Given the description of an element on the screen output the (x, y) to click on. 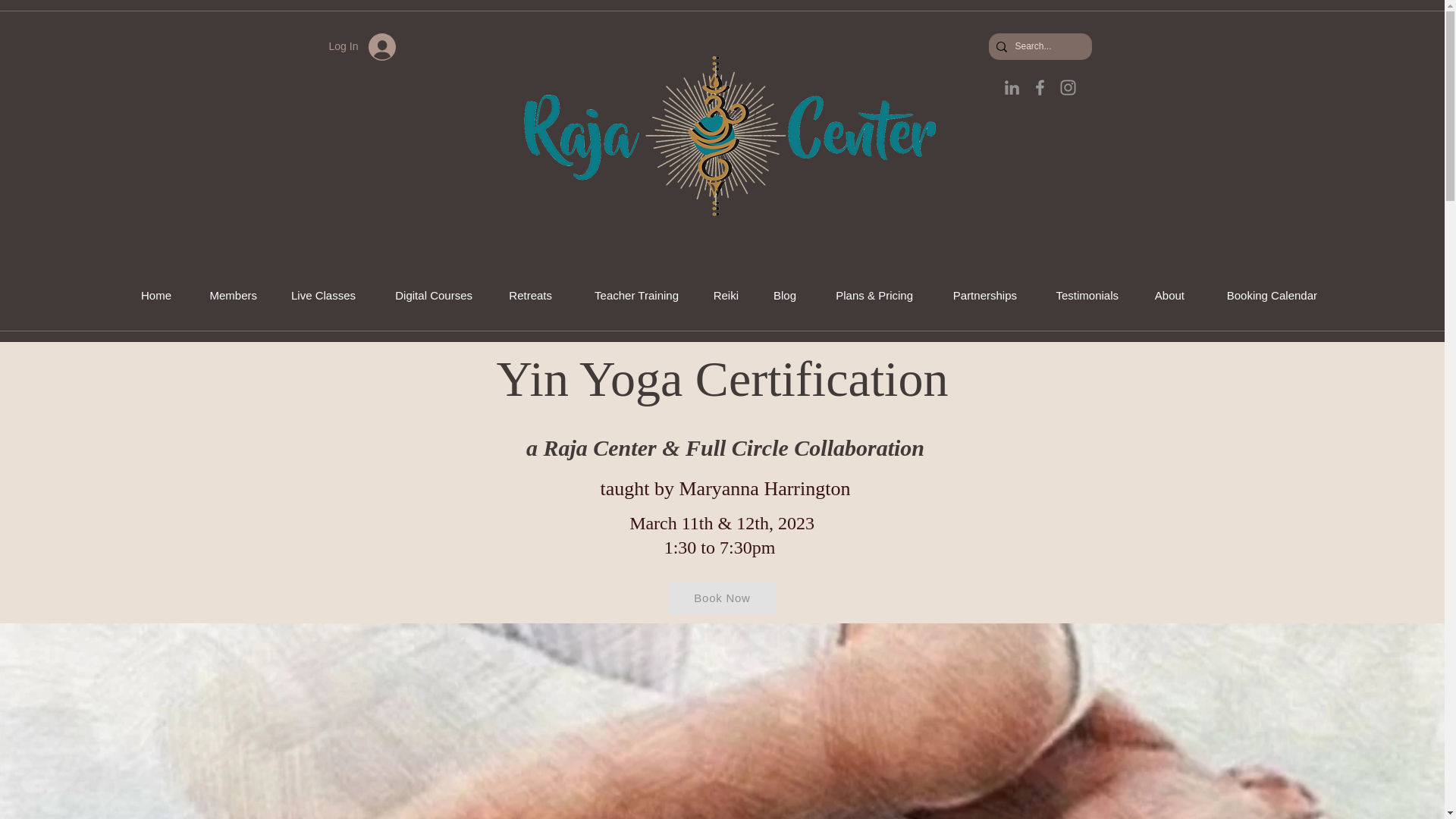
Blog (778, 295)
Book Now (722, 598)
Teacher Training (626, 295)
Digital Courses (424, 295)
Live Classes (316, 295)
Partnerships (975, 295)
Log In (362, 46)
About (1162, 295)
Reiki (719, 295)
Home (149, 295)
Testimonials (1078, 295)
Members (225, 295)
Booking Calendar (1261, 295)
Retreats (523, 295)
